Given the description of an element on the screen output the (x, y) to click on. 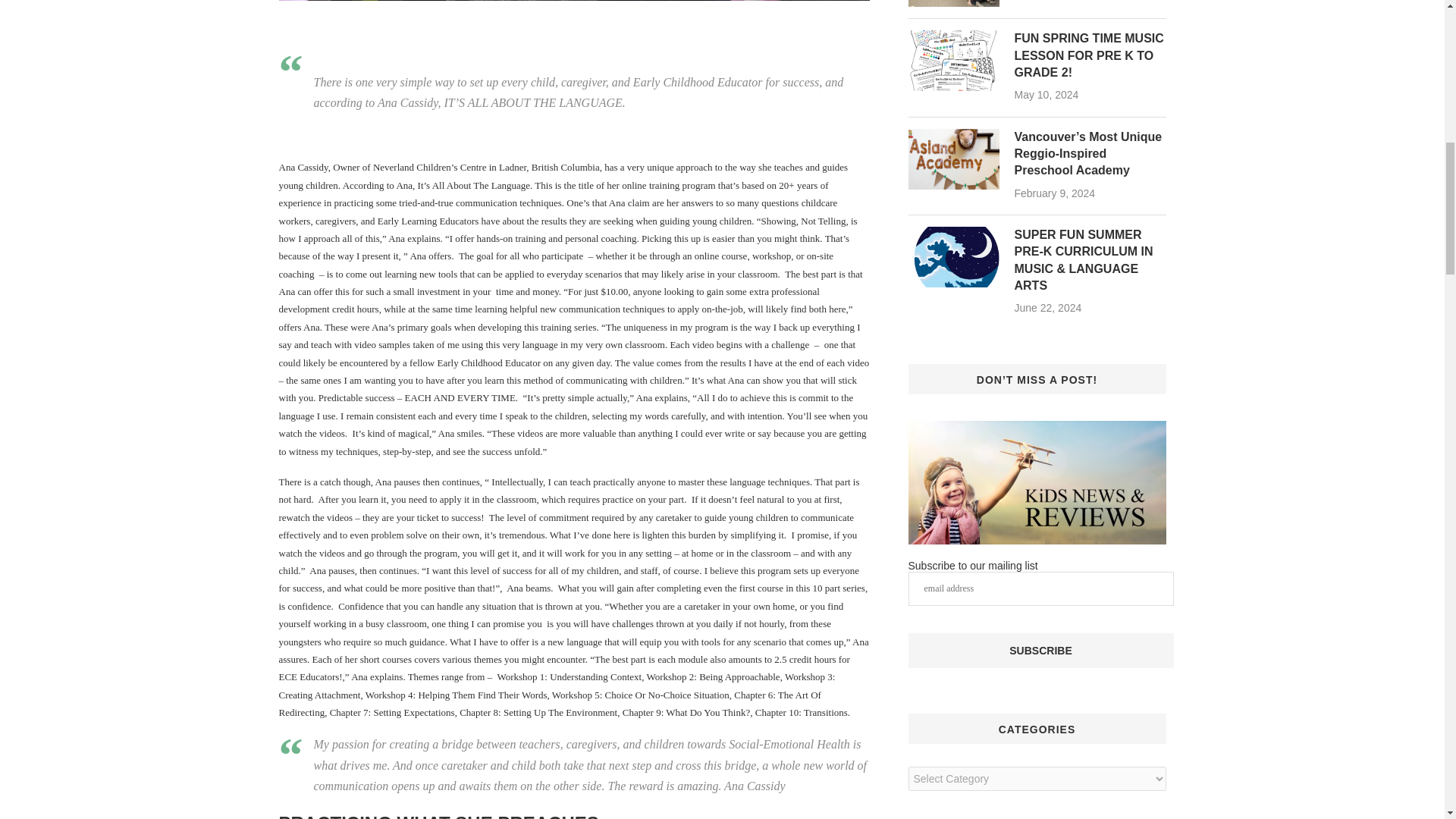
Subscribe (1040, 650)
